Given the description of an element on the screen output the (x, y) to click on. 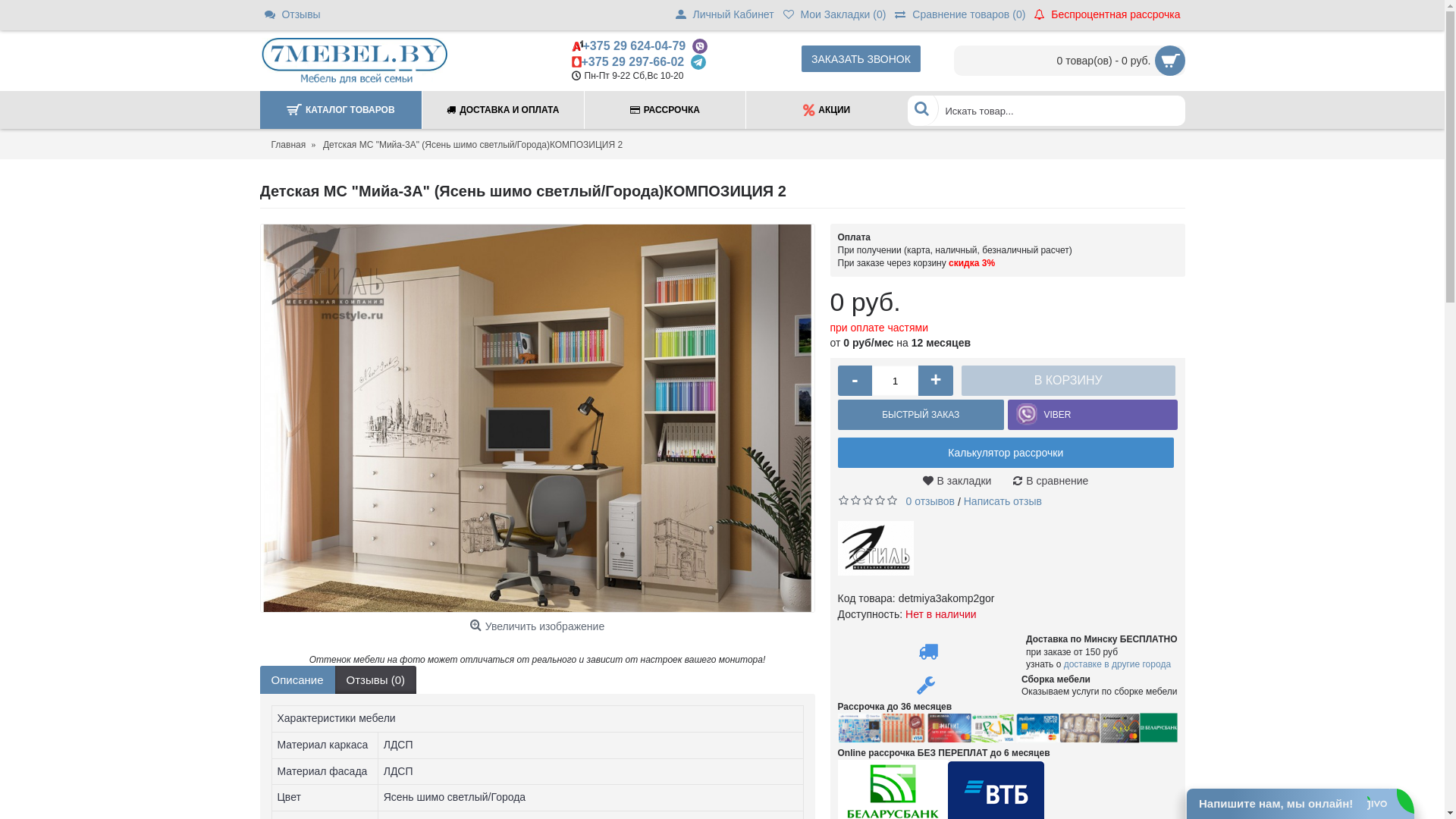
+ Element type: text (935, 380)
+375 29 297-66-02 Element type: text (632, 61)
VIBER Element type: text (1056, 414)
+375 29 624-04-79 Element type: text (633, 45)
- Element type: text (854, 380)
